Given the description of an element on the screen output the (x, y) to click on. 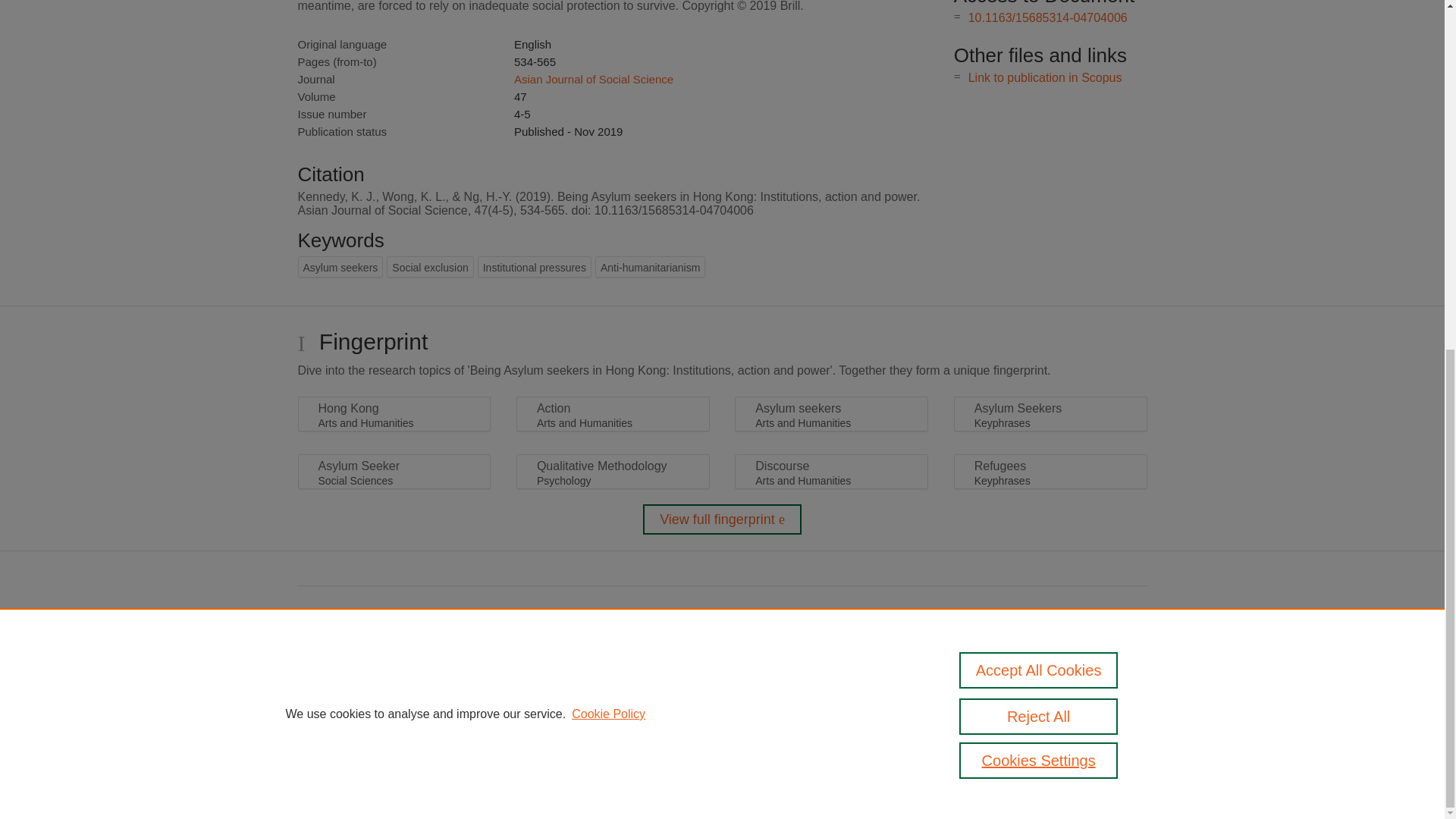
Scopus (394, 707)
View full fingerprint (722, 519)
Asian Journal of Social Science (592, 78)
Pure (362, 707)
Elsevier B.V. (506, 727)
Link to publication in Scopus (1045, 77)
